Given the description of an element on the screen output the (x, y) to click on. 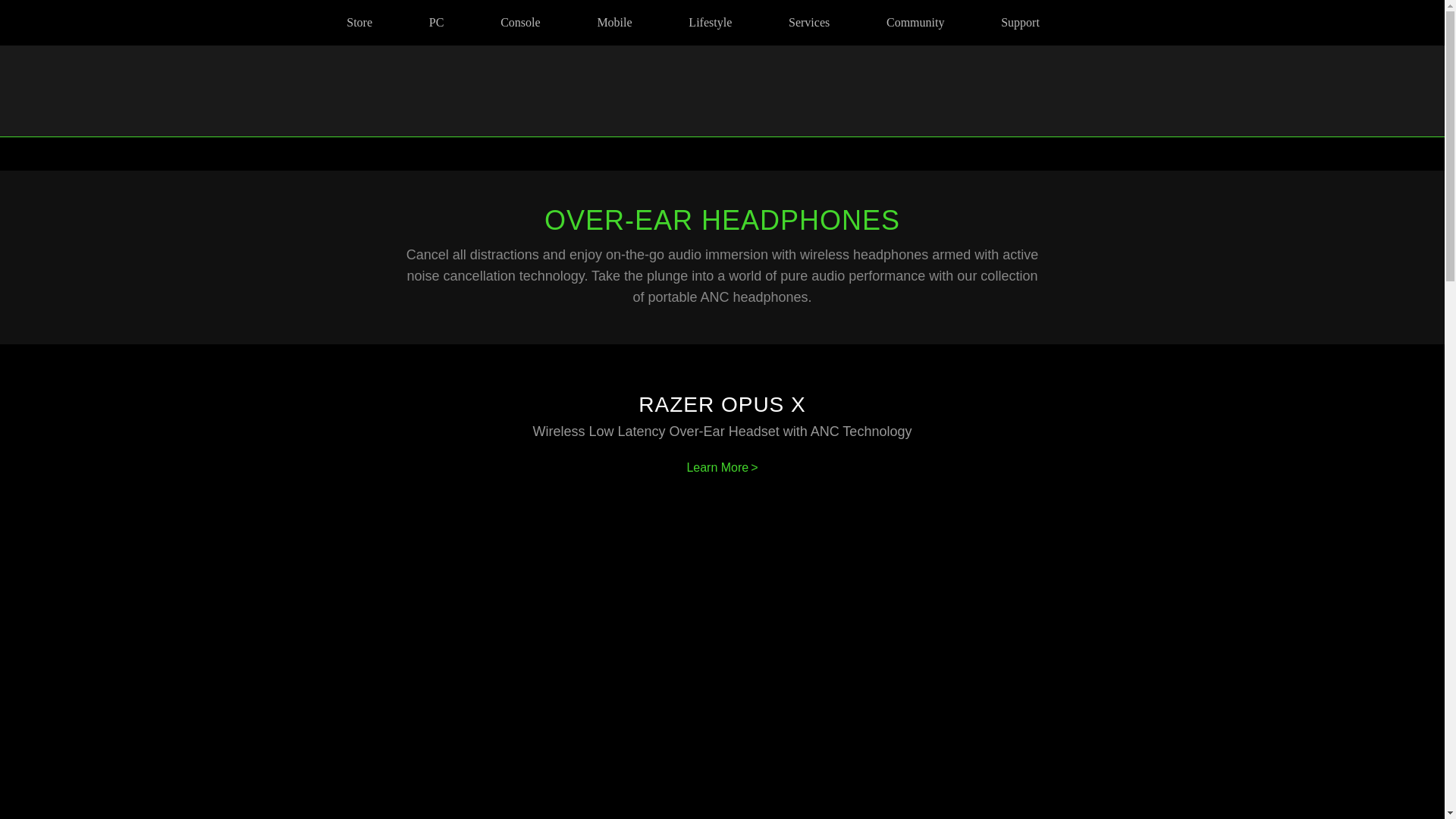
Store (359, 22)
Mobile (614, 22)
Support (1020, 22)
Community (915, 22)
Console (520, 22)
Lifestyle (709, 22)
Services (809, 22)
Learn More (721, 467)
